Given the description of an element on the screen output the (x, y) to click on. 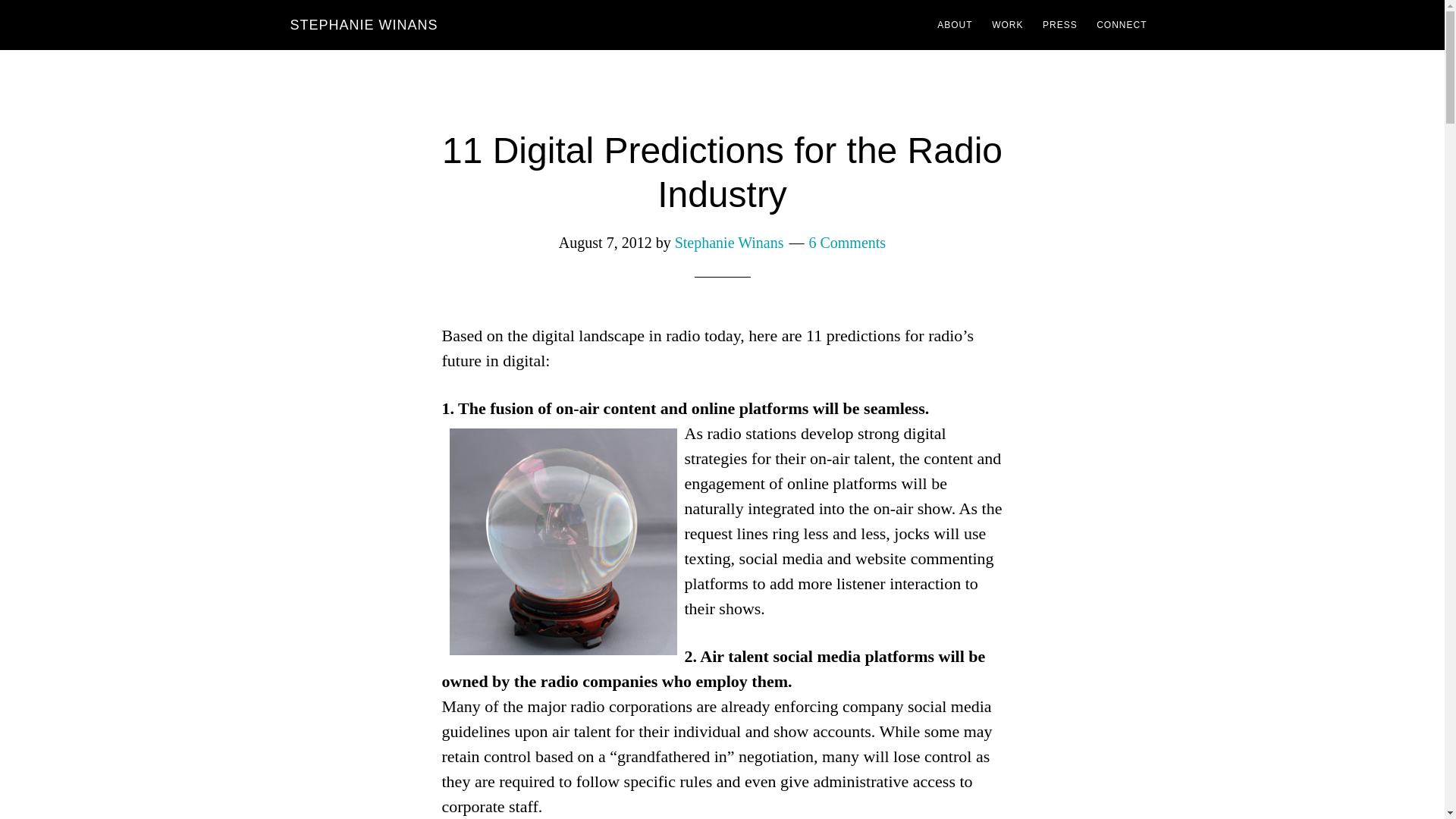
Stephanie Winans (729, 242)
STEPHANIE WINANS (363, 24)
PRESS (1059, 24)
6 Comments (846, 242)
WORK (1007, 24)
CONNECT (1121, 24)
ABOUT (954, 24)
